Given the description of an element on the screen output the (x, y) to click on. 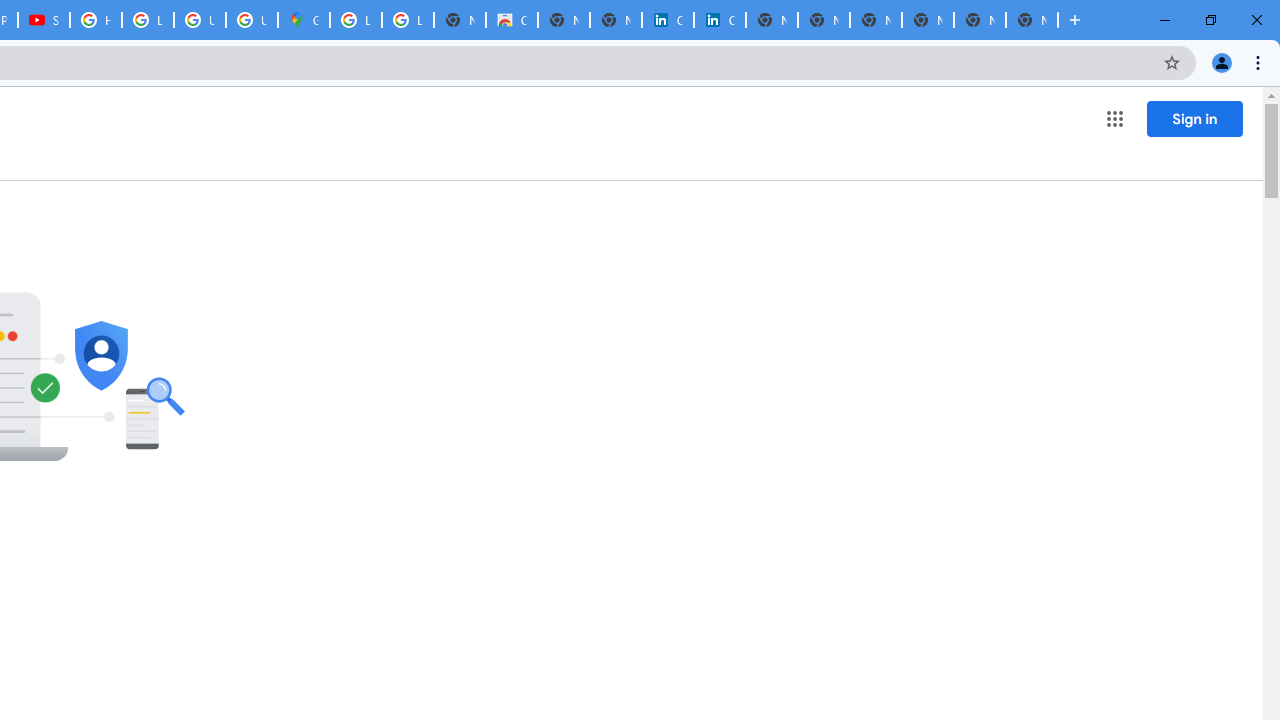
Cookie Policy | LinkedIn (719, 20)
New Tab (1032, 20)
Chrome Web Store (511, 20)
